Given the description of an element on the screen output the (x, y) to click on. 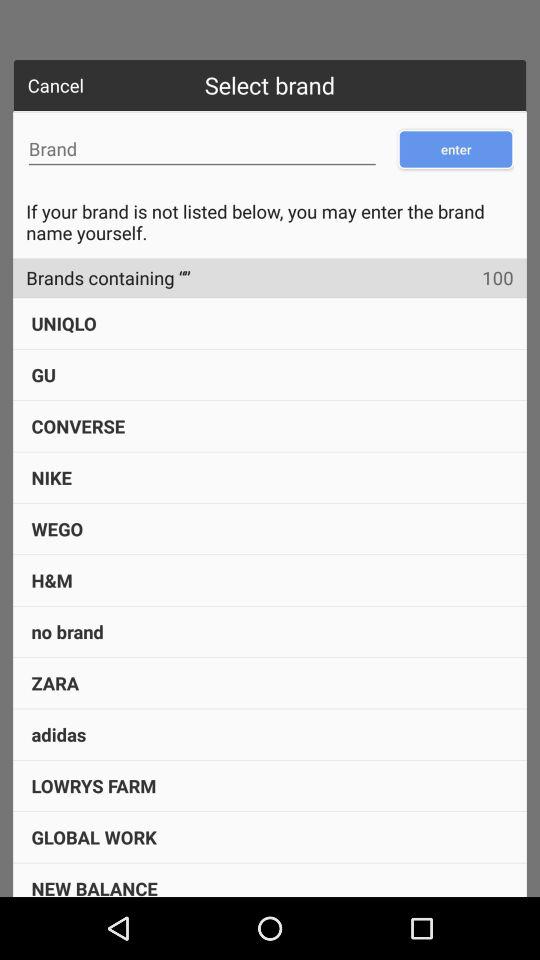
turn on the icon above the no brand icon (51, 580)
